Given the description of an element on the screen output the (x, y) to click on. 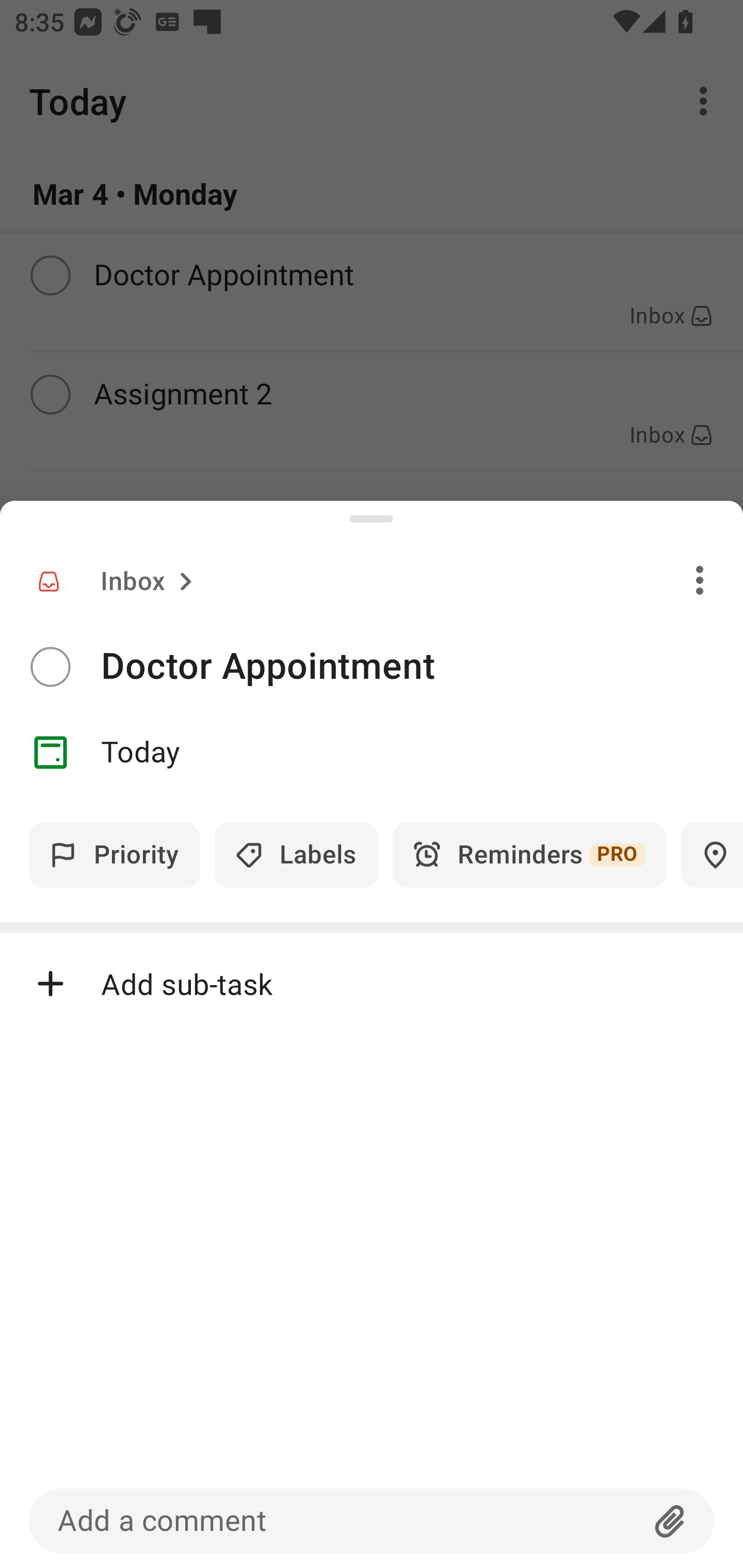
Overflow menu (699, 580)
Complete (50, 667)
Doctor Appointment​ (422, 666)
Date Today (371, 752)
Priority (113, 855)
Labels (296, 855)
Reminders PRO (529, 855)
Locations PRO (712, 855)
Add sub-task (371, 983)
Add a comment Attachment (371, 1520)
Attachment (670, 1520)
